Given the description of an element on the screen output the (x, y) to click on. 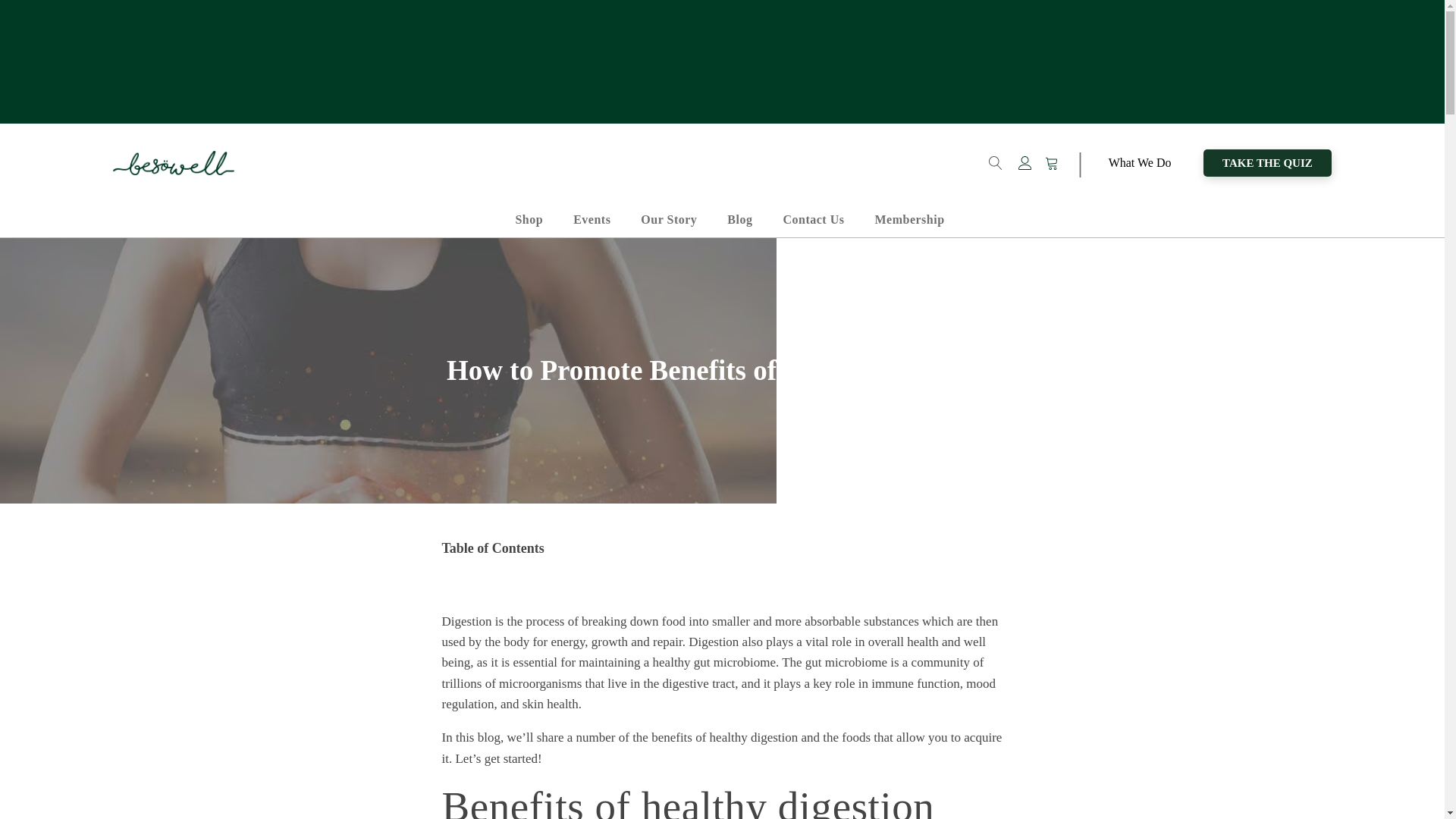
Contact Us (812, 219)
Search (26, 9)
Our Story (668, 219)
Events (591, 219)
TAKE THE QUIZ (1268, 162)
Shop (528, 219)
Membership (909, 219)
Blog (739, 219)
Go to Cart (1055, 165)
What We Do (1139, 163)
